Given the description of an element on the screen output the (x, y) to click on. 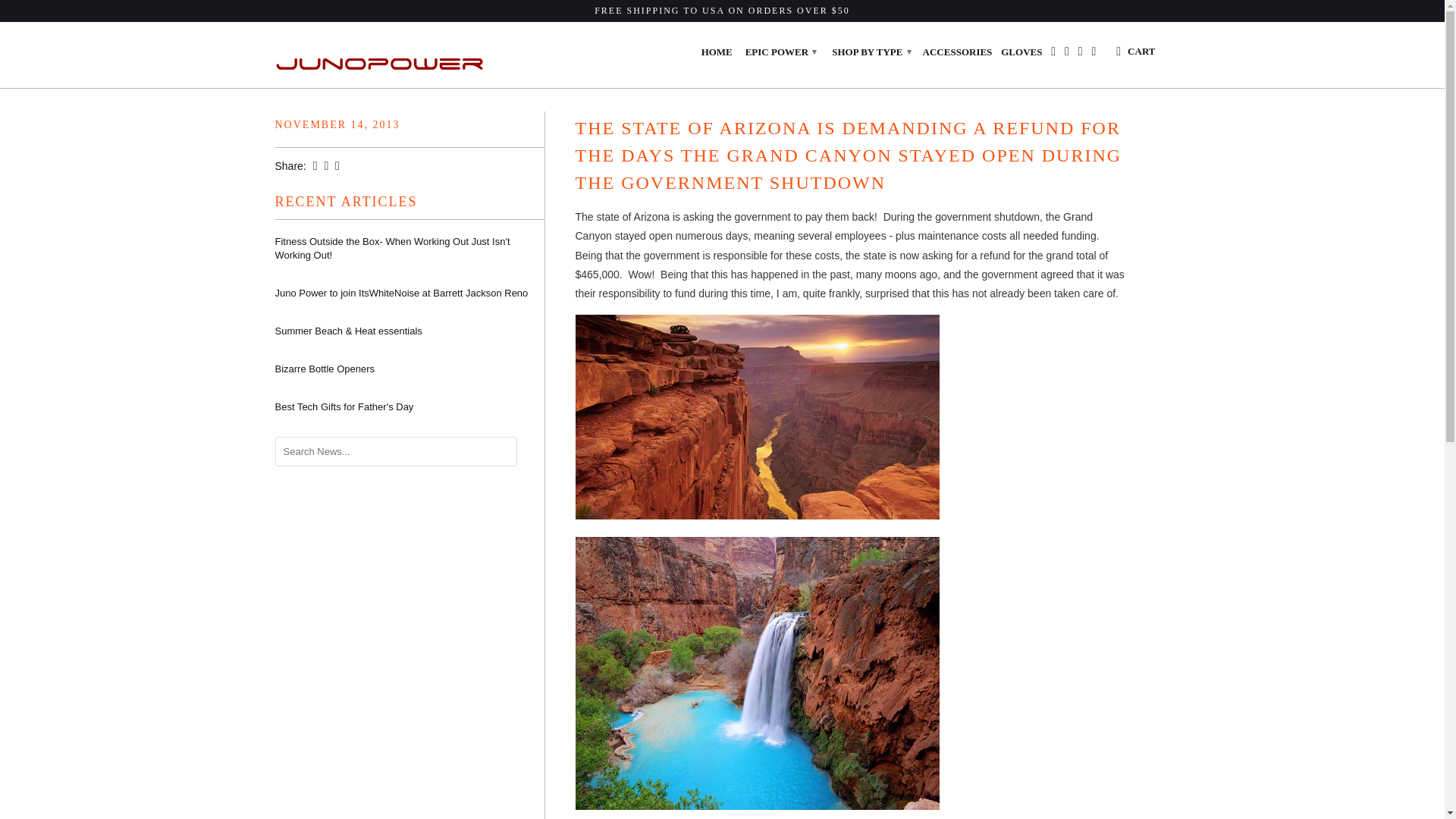
Juno Power (288, 81)
Juno Power (380, 54)
News (332, 81)
Best Tech Gifts for Father's Day (409, 407)
HOME (716, 55)
Juno Power to join ItsWhiteNoise at Barrett Jackson Reno (409, 293)
Bizarre Bottle Openers (409, 368)
